Given the description of an element on the screen output the (x, y) to click on. 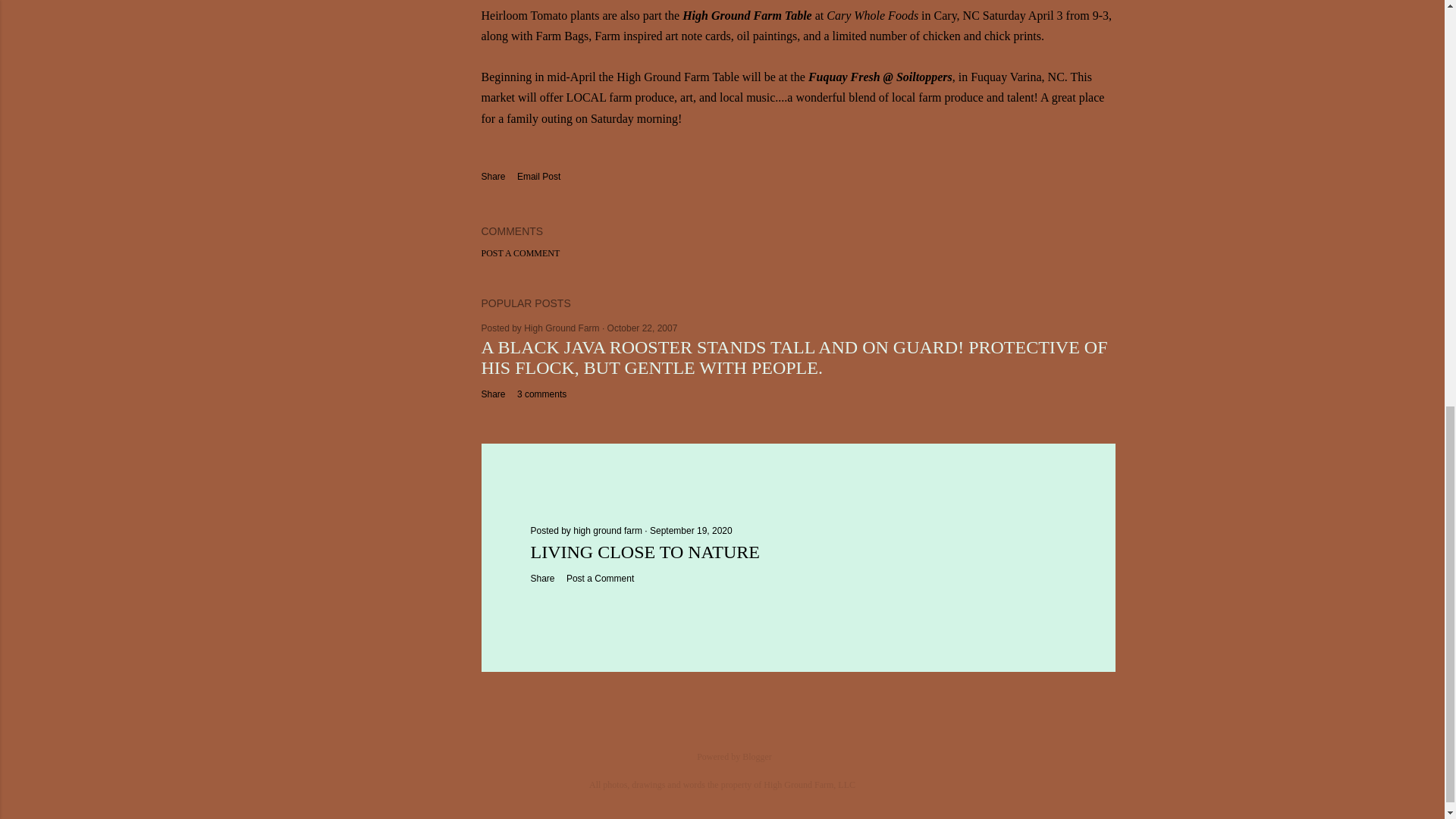
permanent link (642, 327)
Share (542, 578)
high ground farm (609, 530)
LIVING CLOSE TO NATURE (645, 551)
Share (492, 394)
Post a Comment (599, 578)
Share (492, 176)
Email Post (538, 176)
September 19, 2020 (690, 530)
POST A COMMENT (519, 253)
3 comments (541, 394)
October 22, 2007 (642, 327)
